Given the description of an element on the screen output the (x, y) to click on. 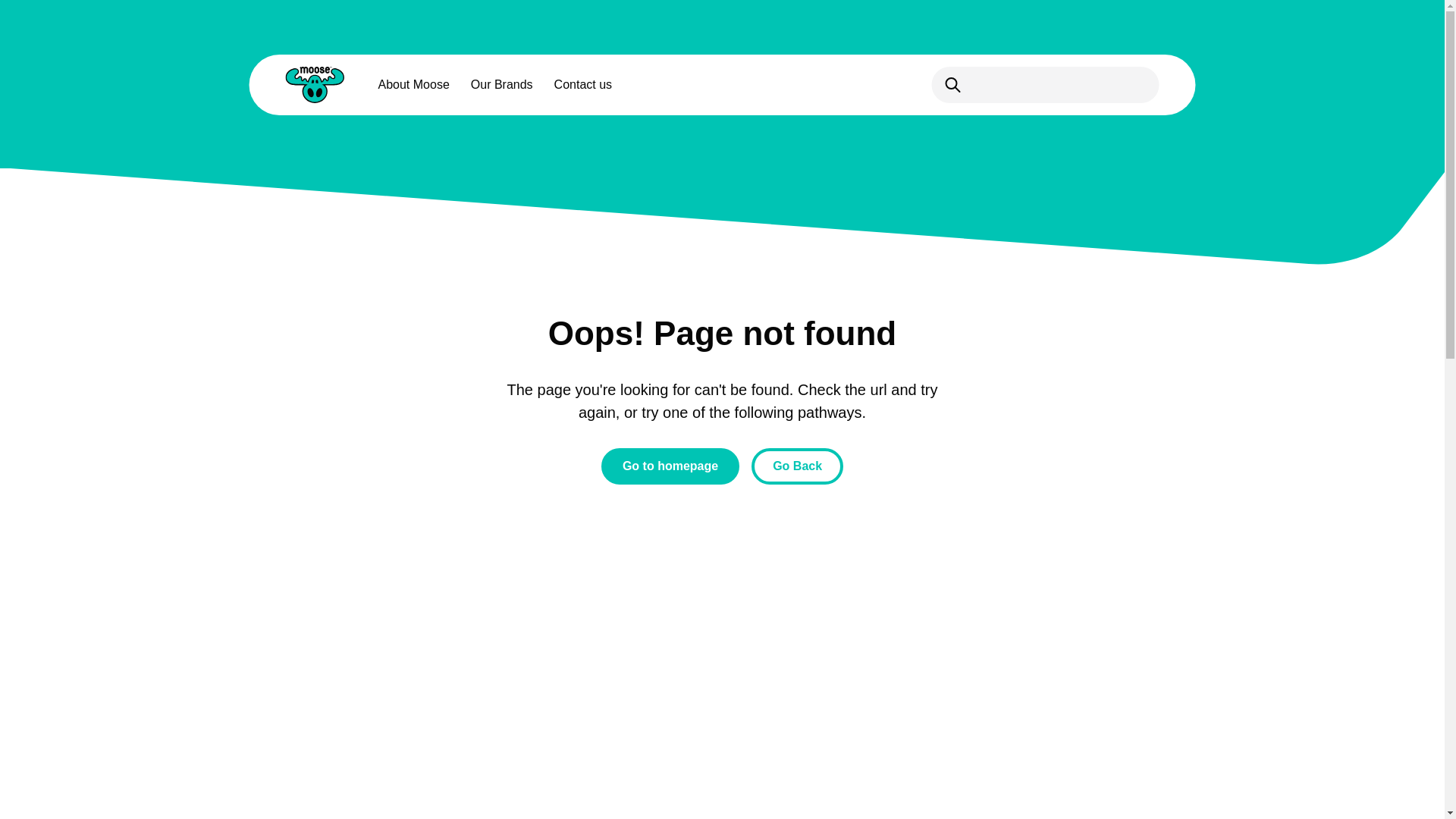
Open Search (1044, 84)
Contact us (582, 84)
About Moose (413, 84)
Our Brands (501, 84)
Go Back (797, 465)
Go to homepage (670, 465)
Moose Toys (314, 84)
